Given the description of an element on the screen output the (x, y) to click on. 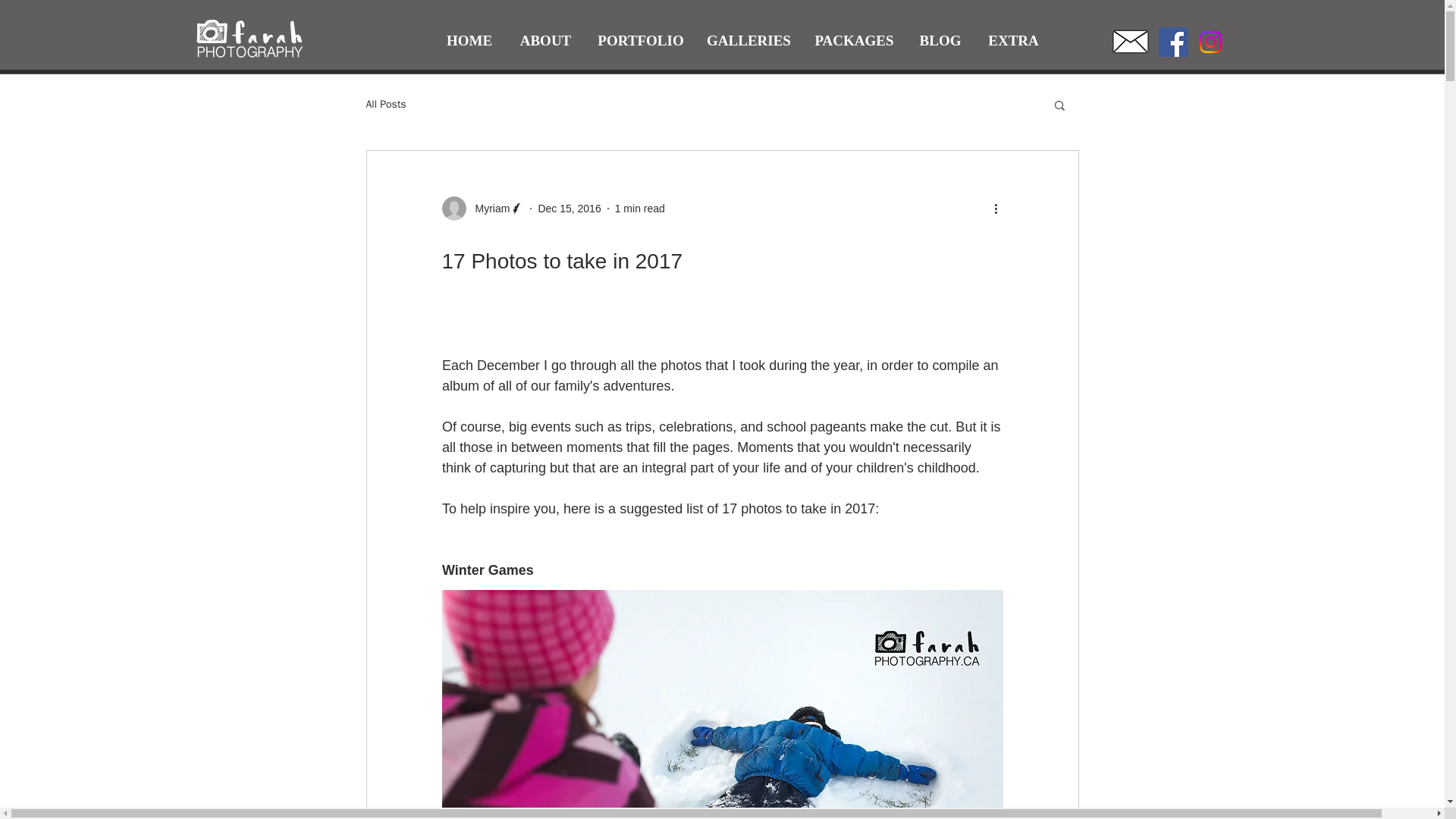
All Posts (385, 104)
Dec 15, 2016 (568, 207)
Myriam (482, 208)
ABOUT (545, 40)
Myriam (487, 207)
PACKAGES (854, 40)
PORTFOLIO (640, 40)
BLOG (940, 40)
HOME (469, 40)
1 min read (639, 207)
GALLERIES (748, 40)
